Given the description of an element on the screen output the (x, y) to click on. 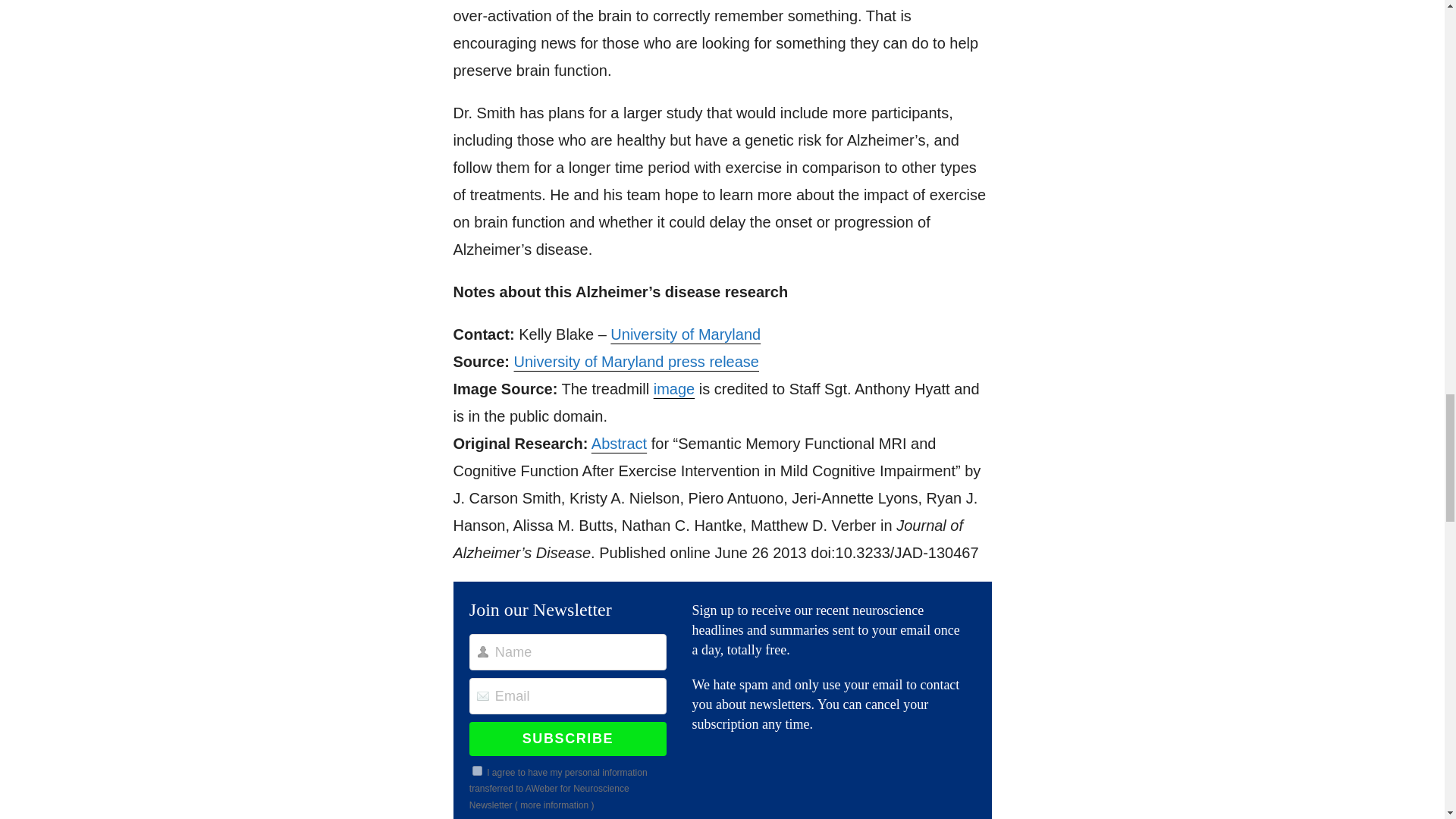
image (673, 388)
University of Maryland (685, 334)
university of maryland home (685, 334)
on (476, 770)
university of maryland press release (635, 361)
more information (553, 805)
alzheimer's journal research (618, 443)
treadmill image (673, 388)
SUBSCRIBE (567, 738)
University of Maryland press release (635, 361)
Abstract (618, 443)
SUBSCRIBE (567, 738)
